Given the description of an element on the screen output the (x, y) to click on. 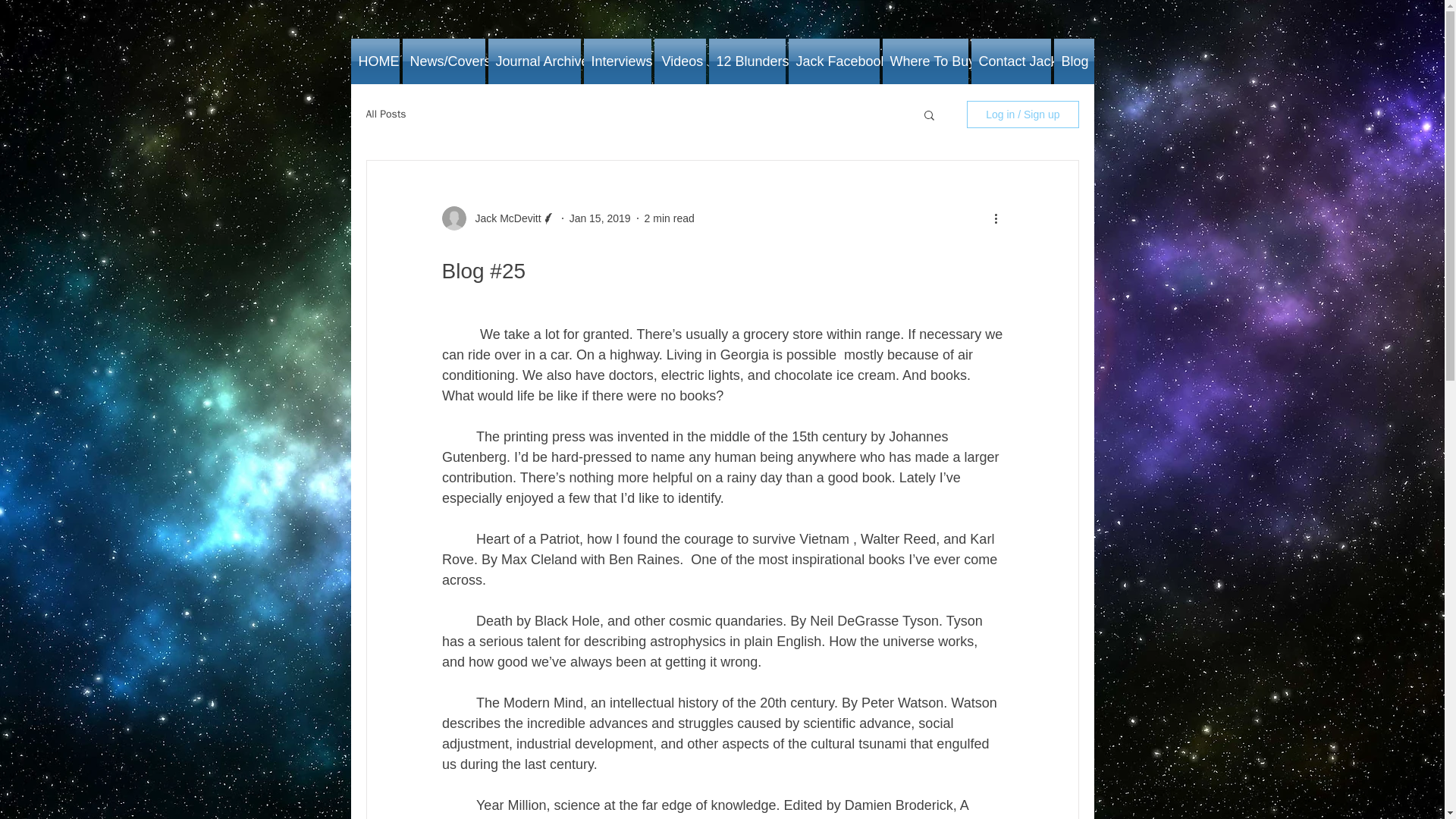
Jan 15, 2019 (599, 218)
Interviews (617, 61)
2 min read (669, 218)
Videos (679, 61)
12 Blunders (746, 61)
Where To Buy (924, 61)
Jack McDevitt (502, 218)
Contact Jack (1010, 61)
Journal Archive (534, 61)
HOME (375, 61)
